Given the description of an element on the screen output the (x, y) to click on. 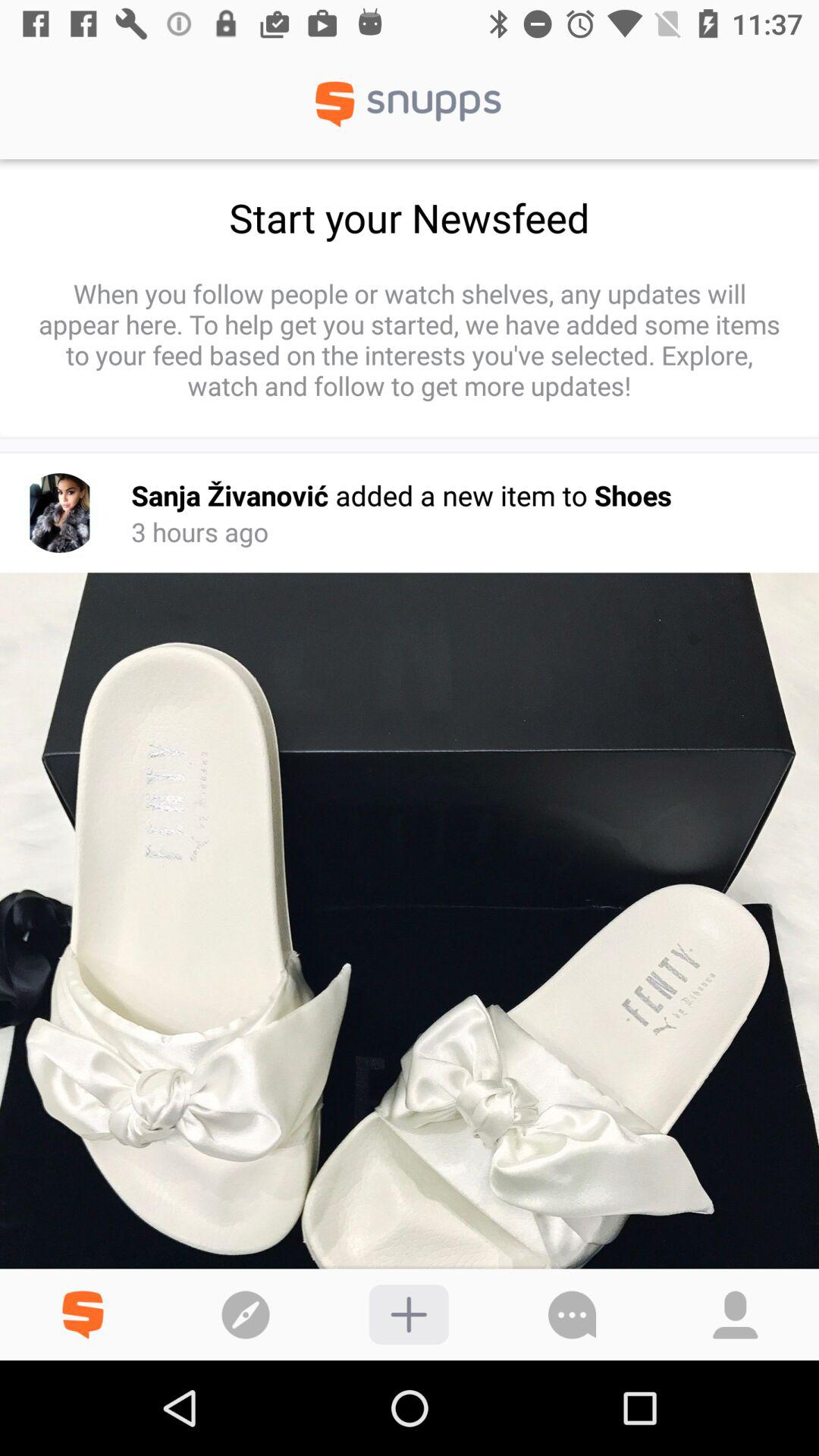
add post (408, 1314)
